Given the description of an element on the screen output the (x, y) to click on. 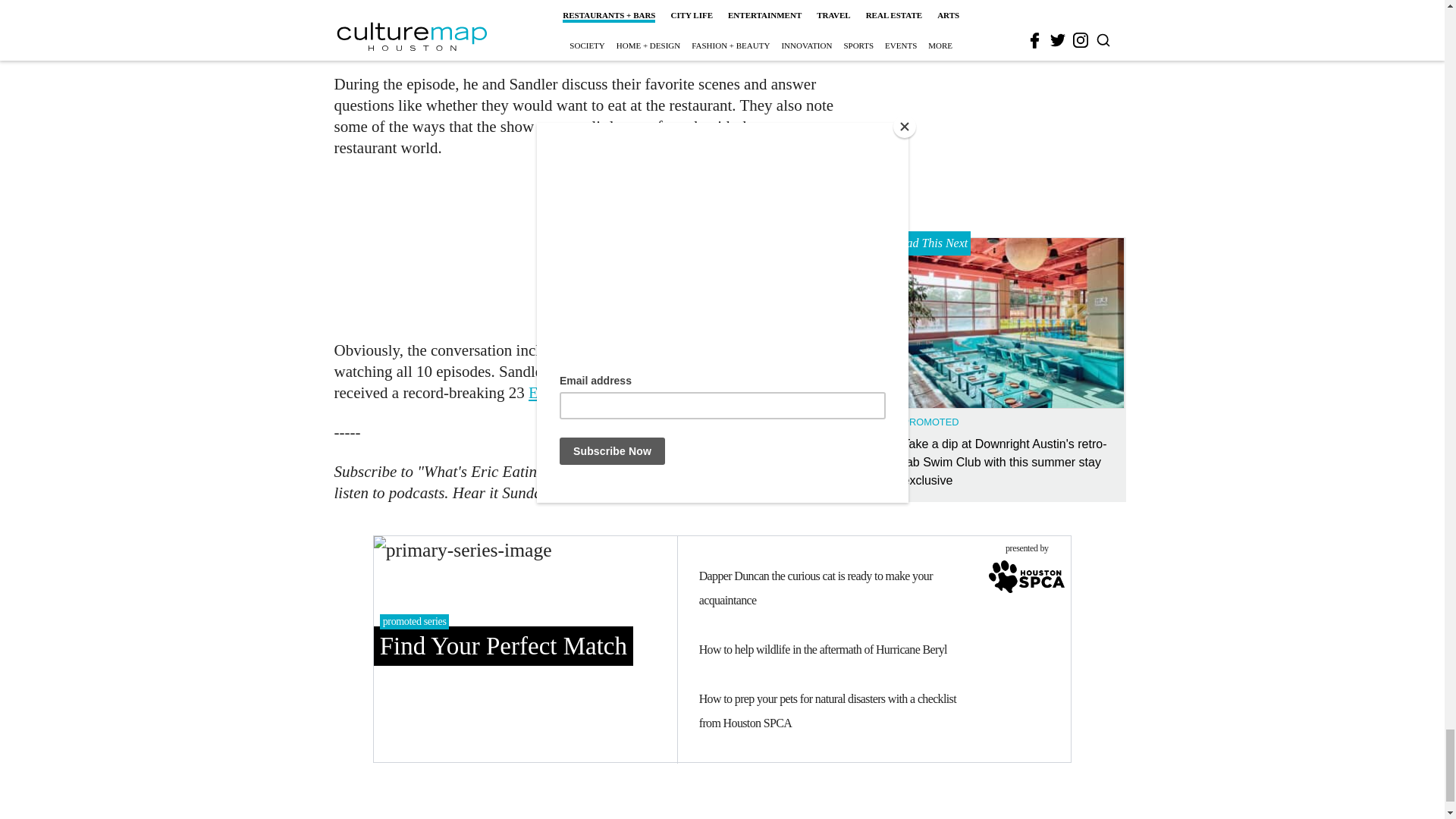
primary-link (525, 649)
Audioboom player (599, 245)
